Given the description of an element on the screen output the (x, y) to click on. 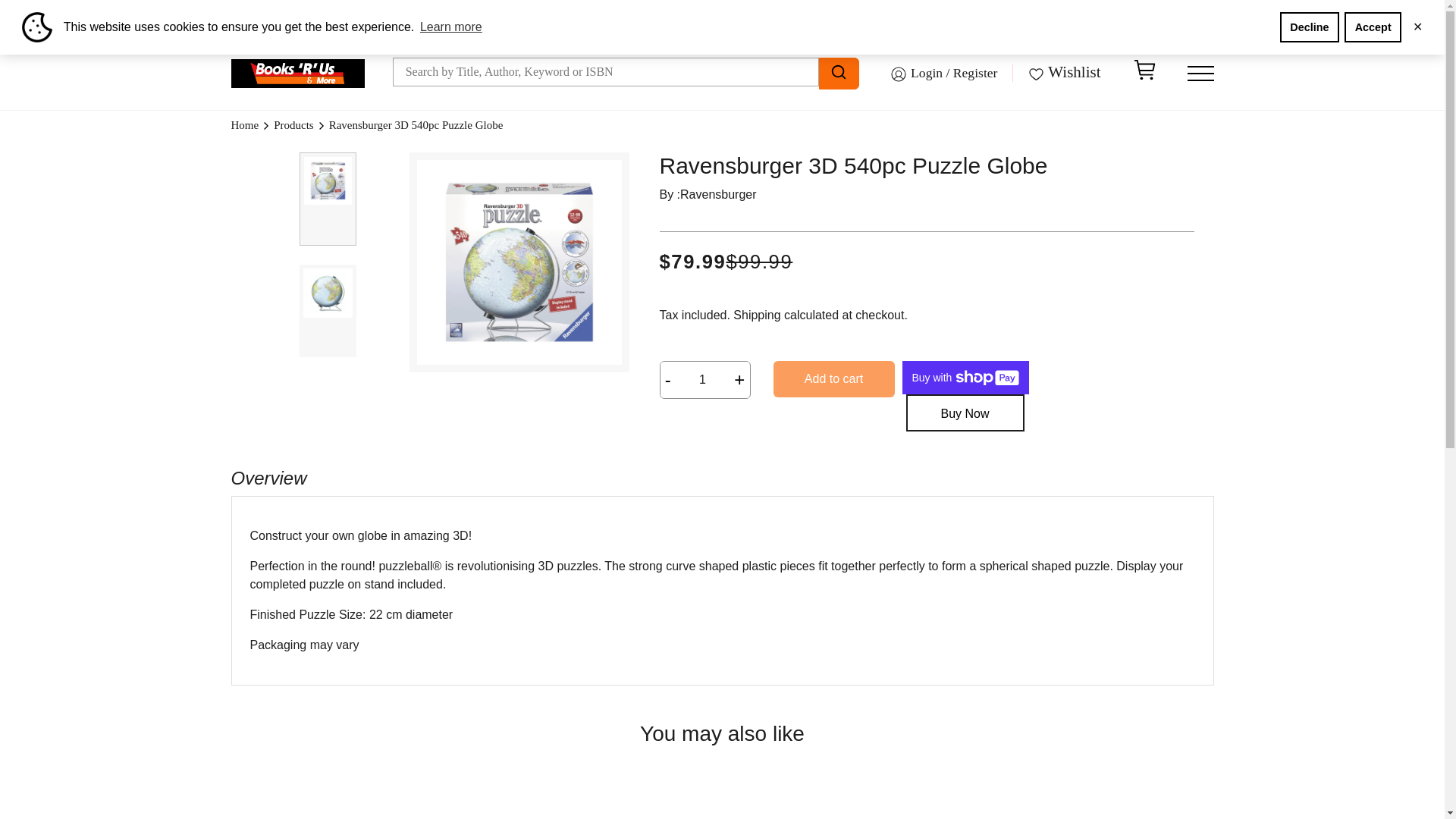
Wishlist (1065, 72)
Accept (1371, 27)
Menu (1201, 72)
1 (702, 379)
Learn more (450, 26)
Decline (1309, 27)
